Given the description of an element on the screen output the (x, y) to click on. 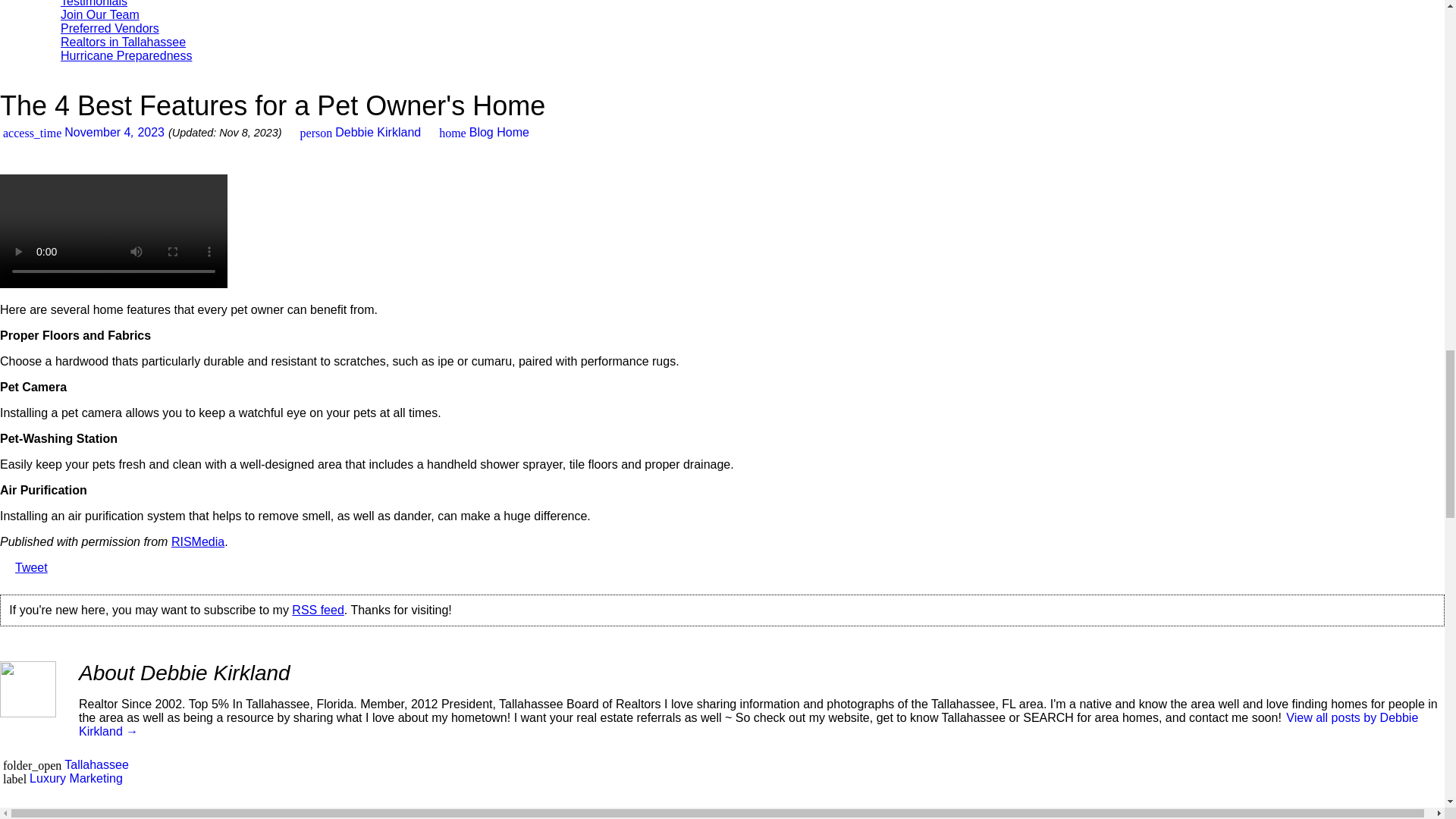
View all posts by Debbie Kirkland (359, 132)
Permalink to The 4 Best Features for a Pet Owner's Home (82, 132)
